Given the description of an element on the screen output the (x, y) to click on. 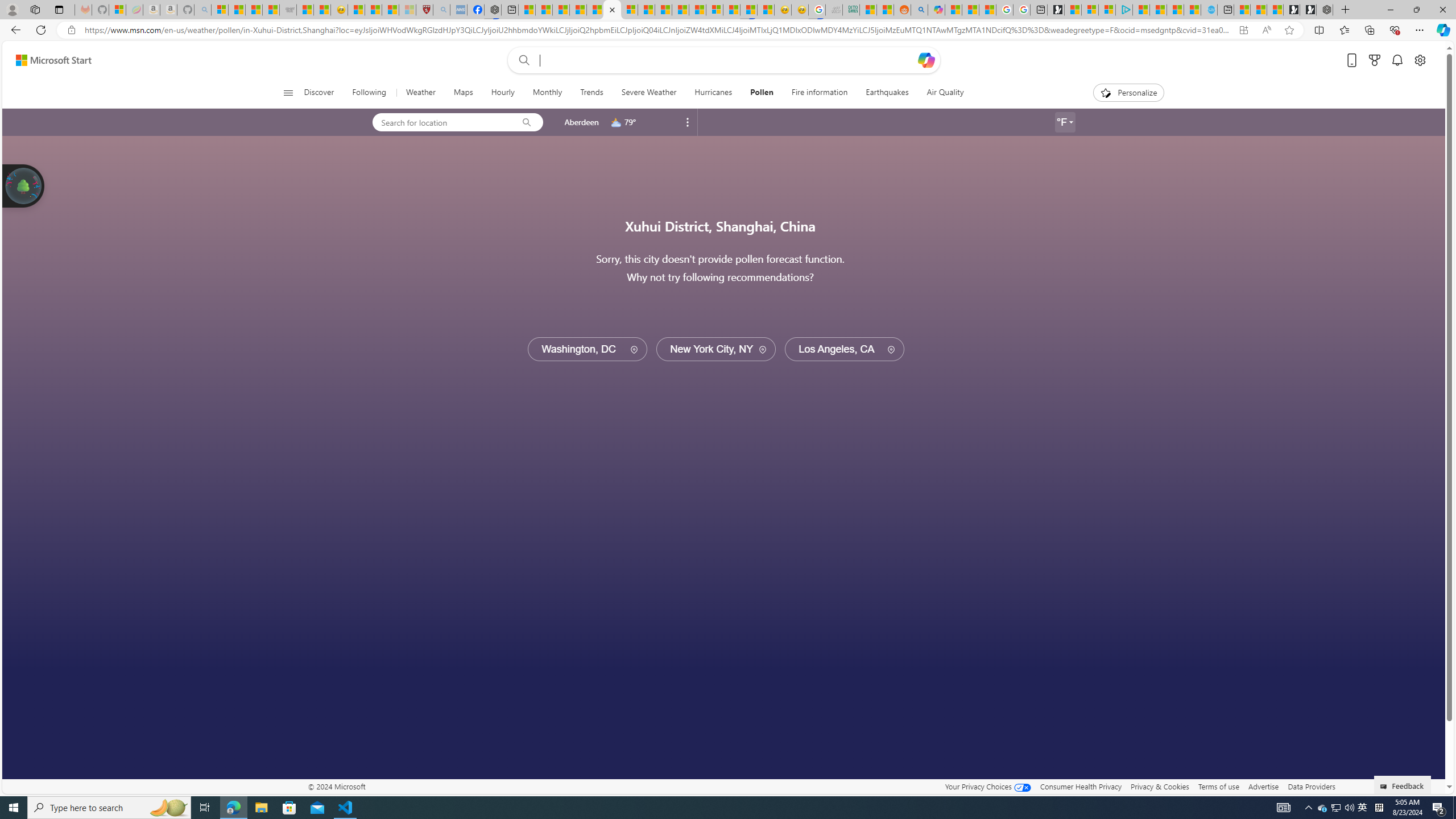
12 Popular Science Lies that Must be Corrected - Sleeping (407, 9)
Trends (591, 92)
